Given the description of an element on the screen output the (x, y) to click on. 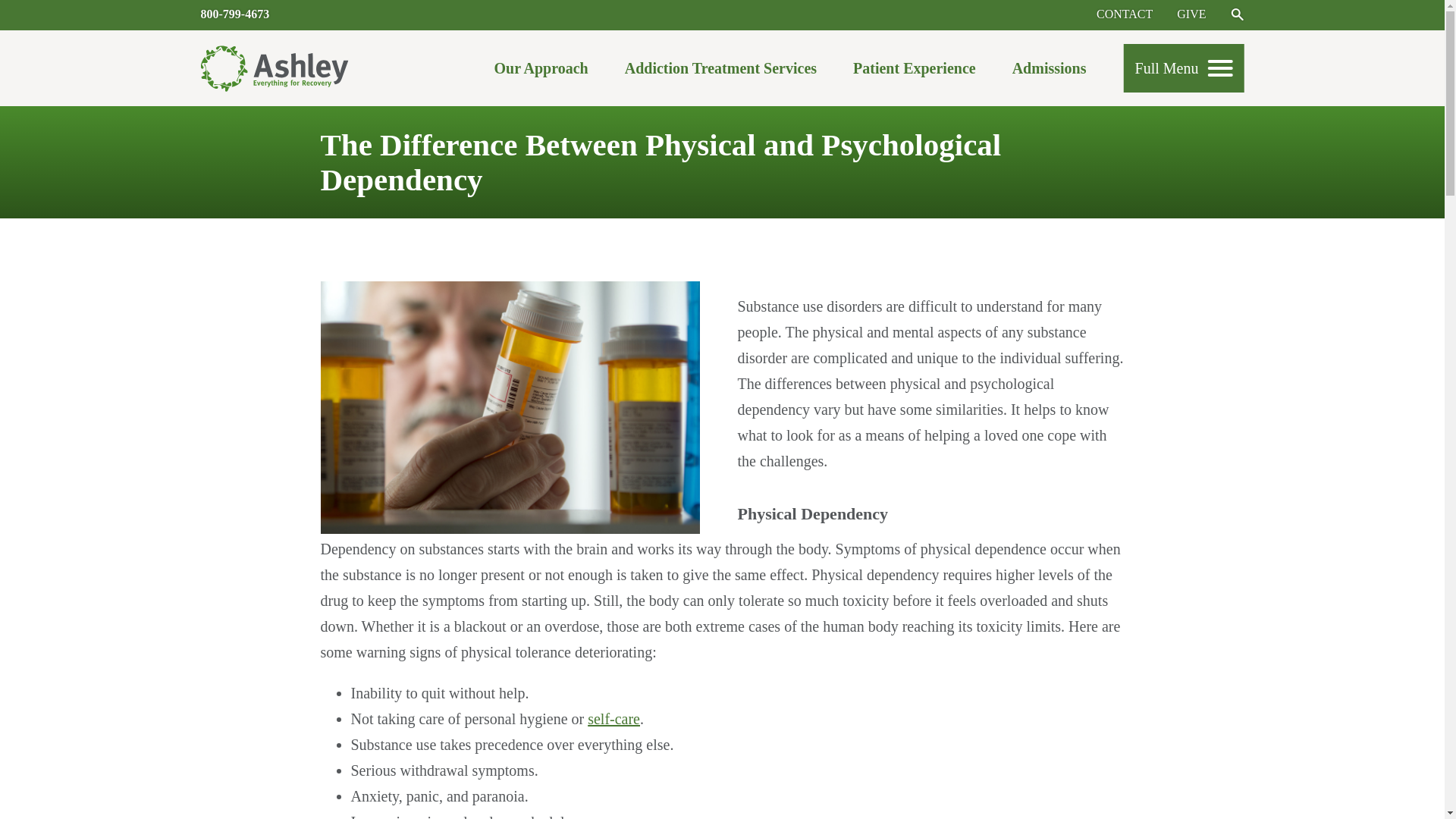
GIVE (1190, 14)
Admissions (1048, 71)
Patient Experience (914, 71)
Our Approach (540, 71)
Search (1236, 14)
CONTACT (1124, 14)
800-799-4673 (234, 14)
Addiction Treatment Services (720, 71)
